Given the description of an element on the screen output the (x, y) to click on. 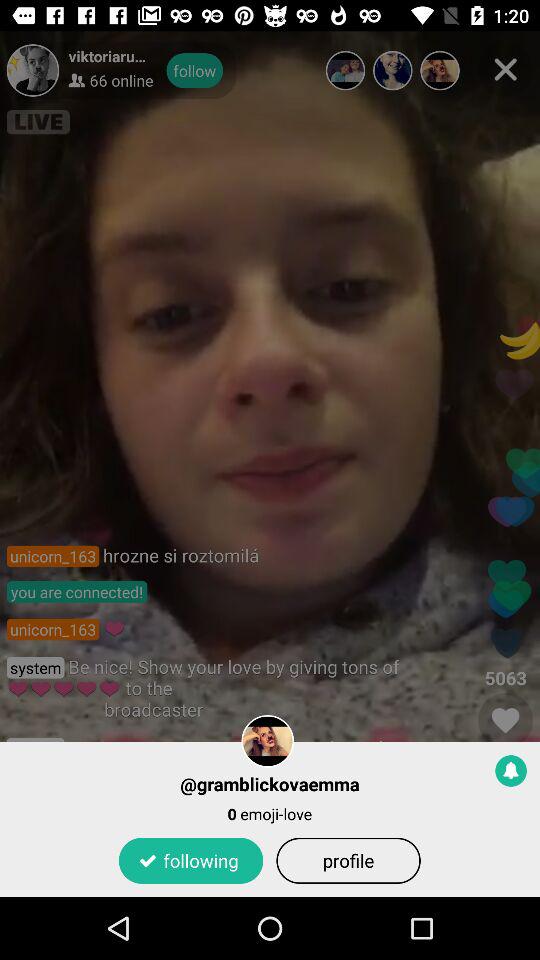
press the item next to the @gramblickovaemma item (511, 770)
